Given the description of an element on the screen output the (x, y) to click on. 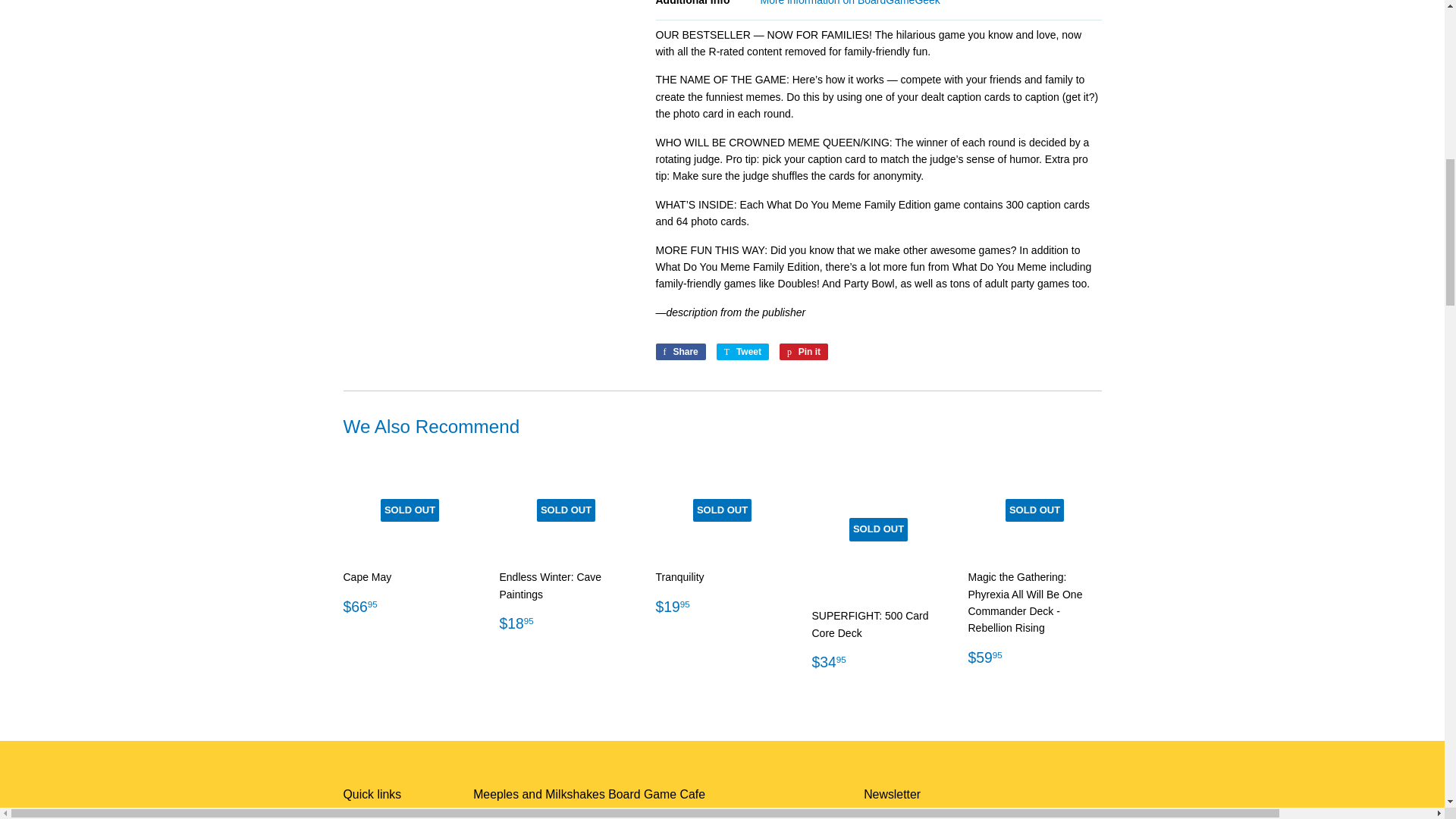
Share on Facebook (679, 351)
Pin on Pinterest (803, 351)
Tweet on Twitter (742, 351)
